Given the description of an element on the screen output the (x, y) to click on. 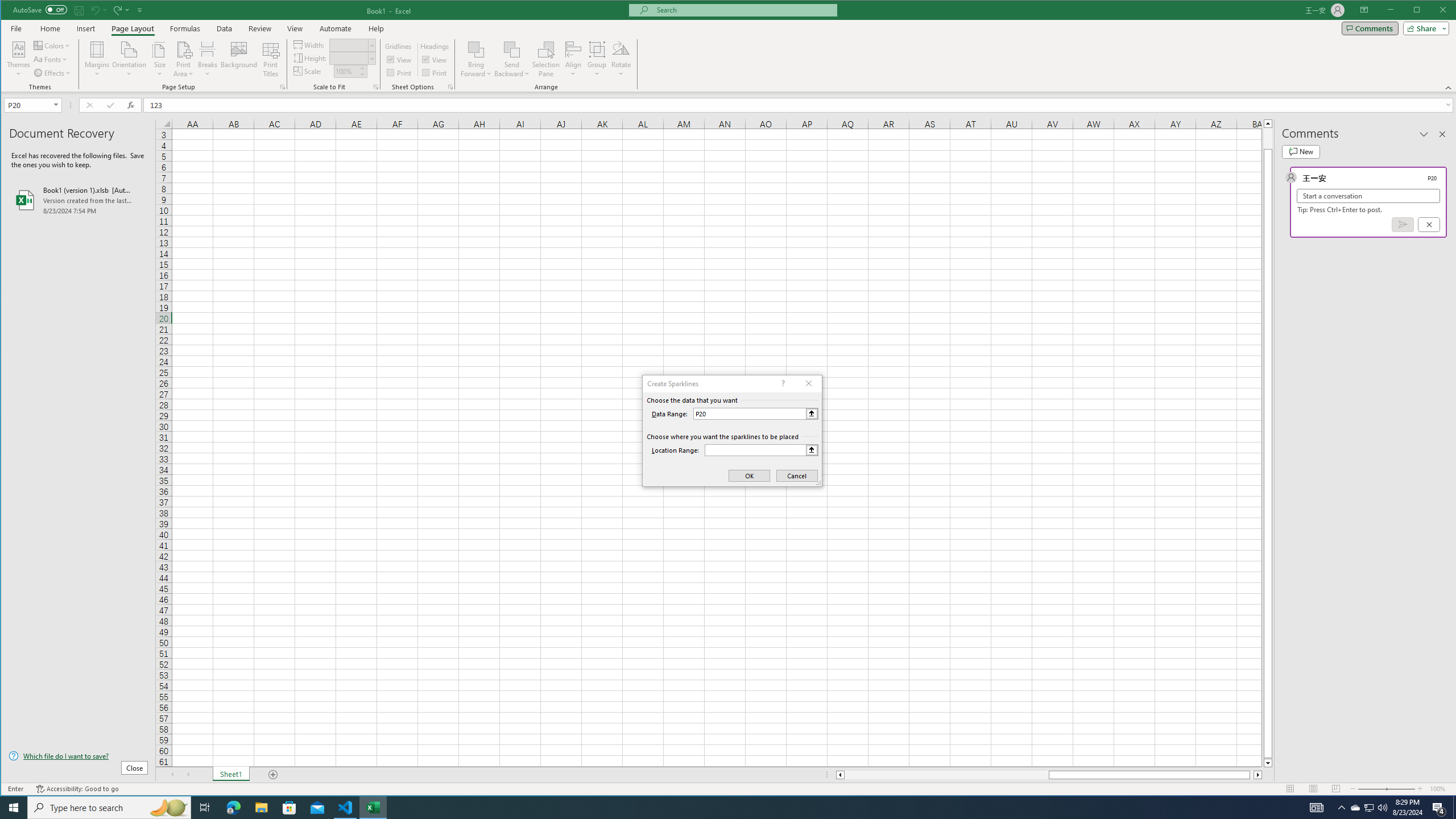
Breaks (207, 59)
Page Setup (375, 86)
Height (352, 57)
Class: MsoCommandBar (728, 45)
Page up (1267, 138)
Size (159, 59)
